Given the description of an element on the screen output the (x, y) to click on. 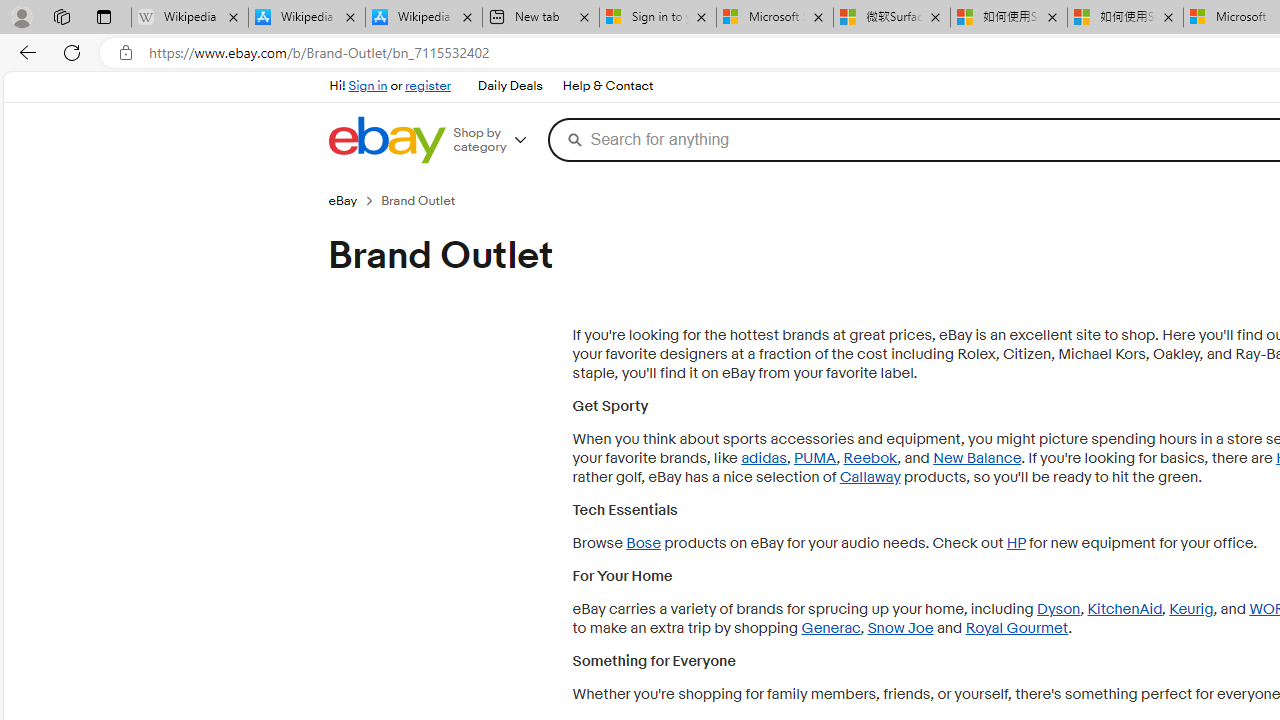
adidas (764, 458)
Reebok (870, 458)
Daily Deals (509, 86)
KitchenAid (1124, 609)
HP (1016, 543)
